Given the description of an element on the screen output the (x, y) to click on. 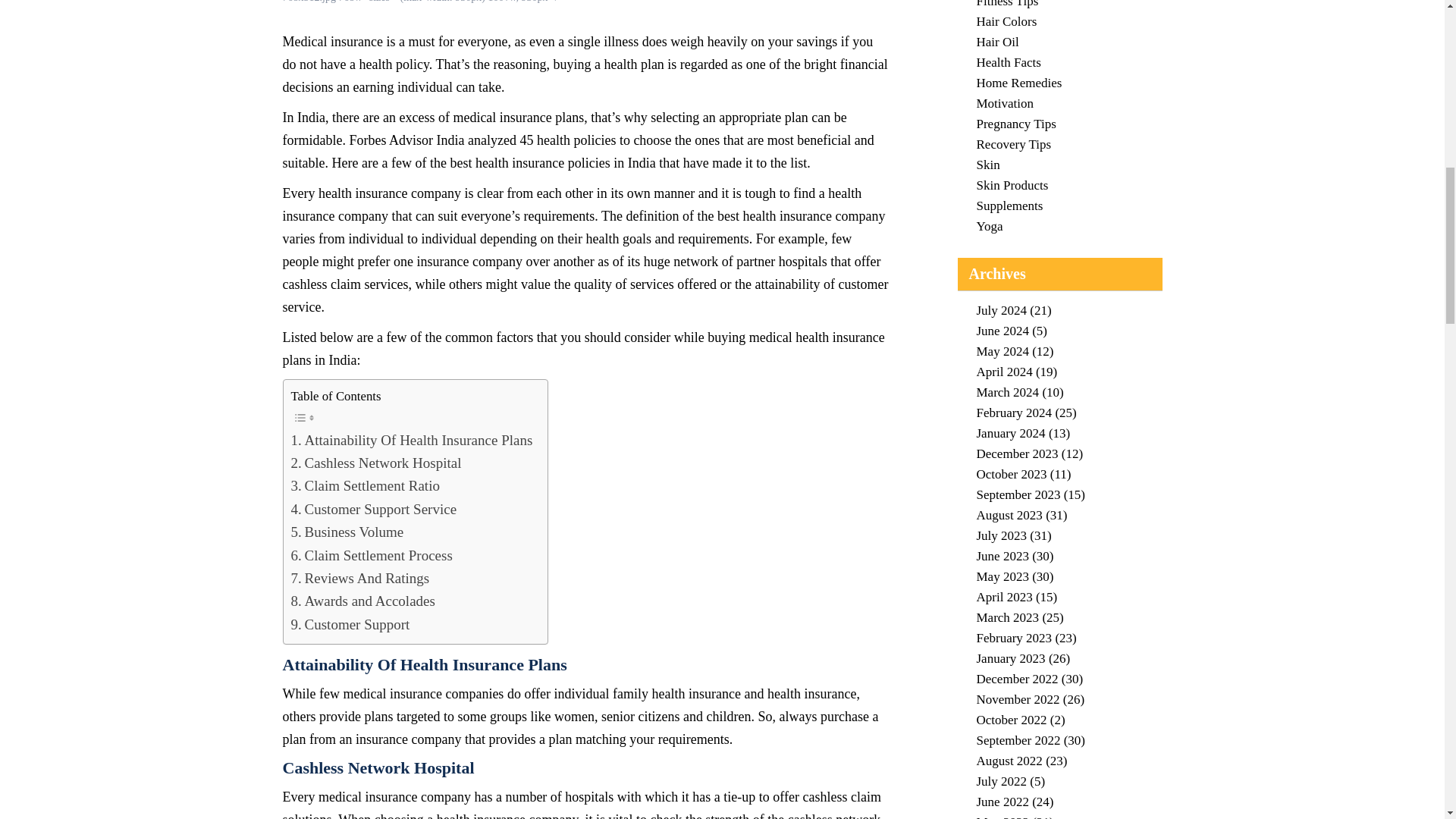
Cashless Network Hospital (376, 463)
Customer Support Service (374, 508)
Cashless Network Hospital (376, 463)
Customer Support Service (374, 508)
Claim Settlement Ratio (365, 486)
Business Volume (347, 531)
Claim Settlement Ratio (365, 486)
Awards and Accolades (363, 600)
Reviews And Ratings (360, 578)
Claim Settlement Process (371, 555)
Attainability Of Health Insurance Plans (411, 440)
Business Volume (347, 531)
Customer Support (350, 624)
Claim Settlement Process (371, 555)
Attainability Of Health Insurance Plans (411, 440)
